Given the description of an element on the screen output the (x, y) to click on. 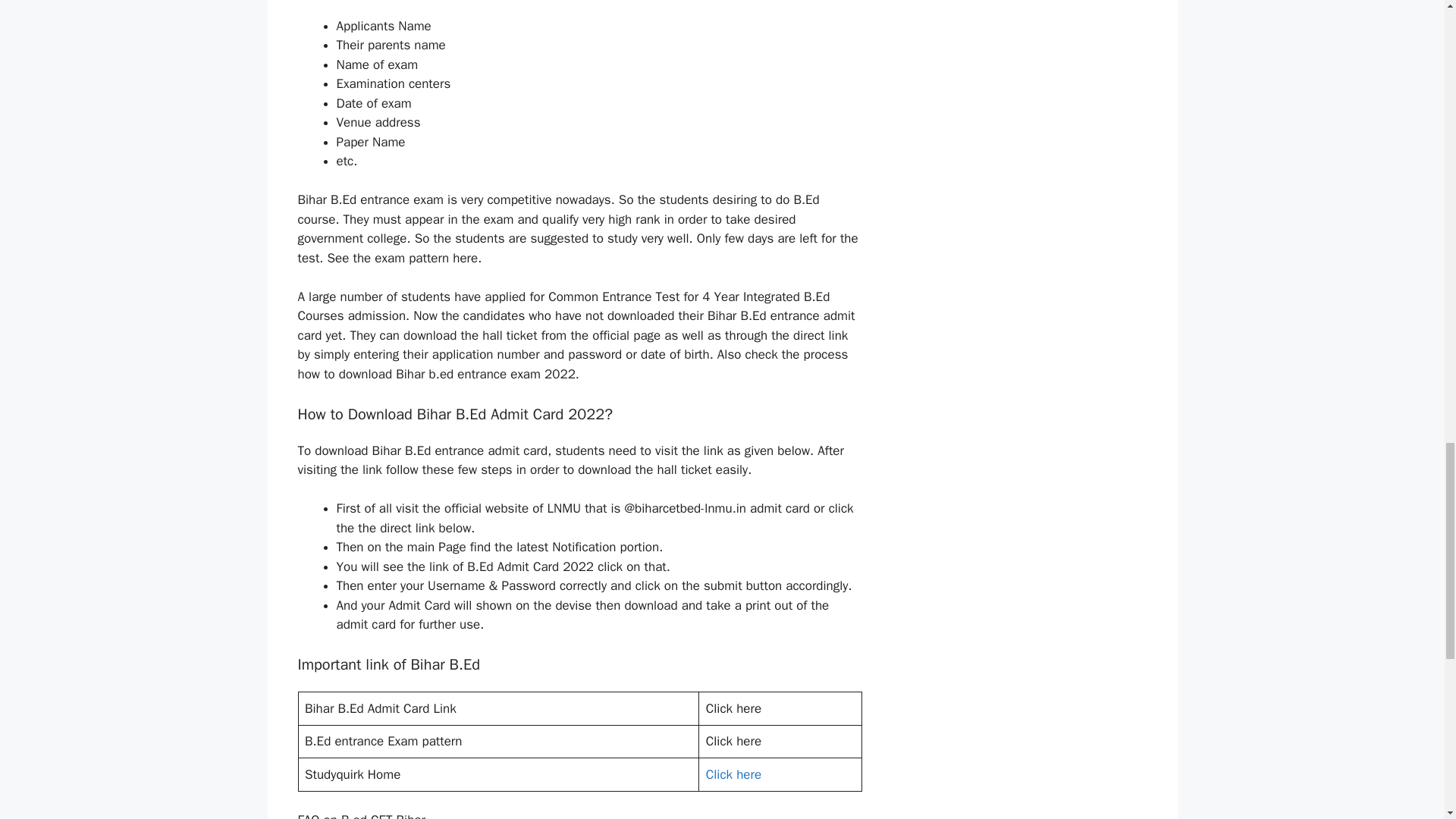
Click here (733, 774)
